Given the description of an element on the screen output the (x, y) to click on. 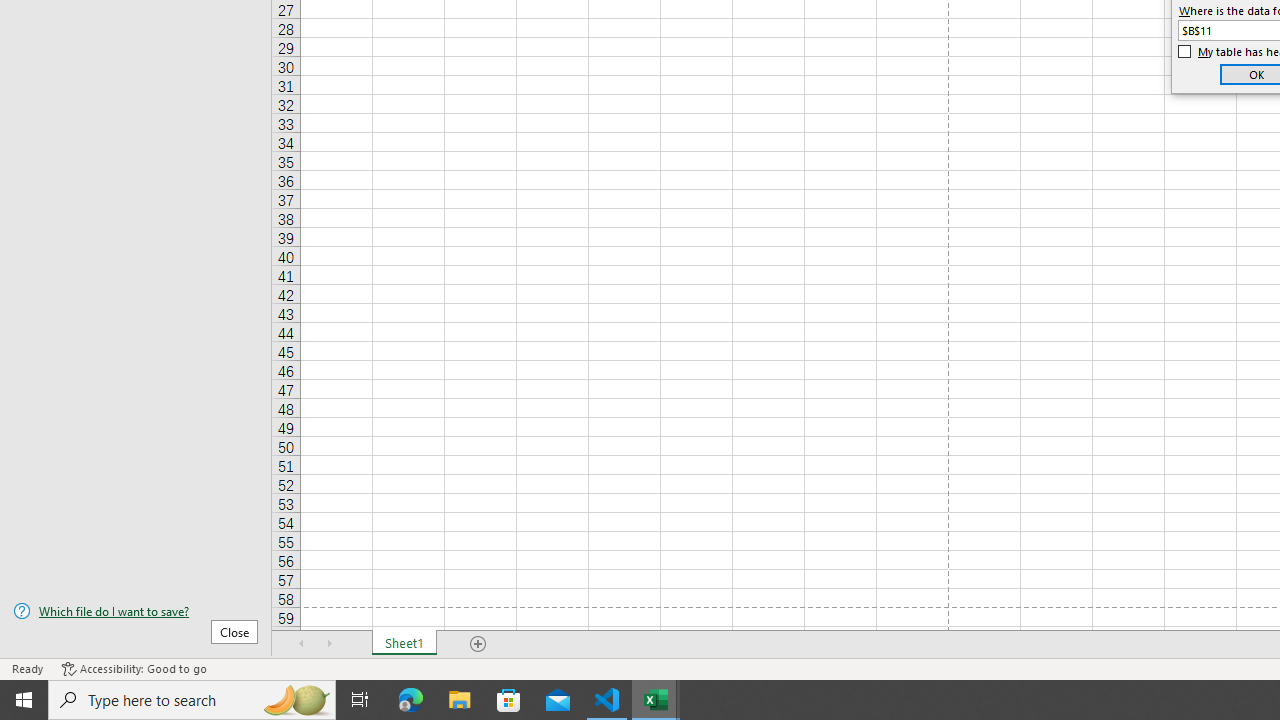
Close (234, 631)
Scroll Right (330, 644)
Which file do I want to save? (136, 611)
Sheet1 (404, 644)
Add Sheet (478, 644)
Scroll Left (302, 644)
Accessibility Checker Accessibility: Good to go (134, 668)
